Given the description of an element on the screen output the (x, y) to click on. 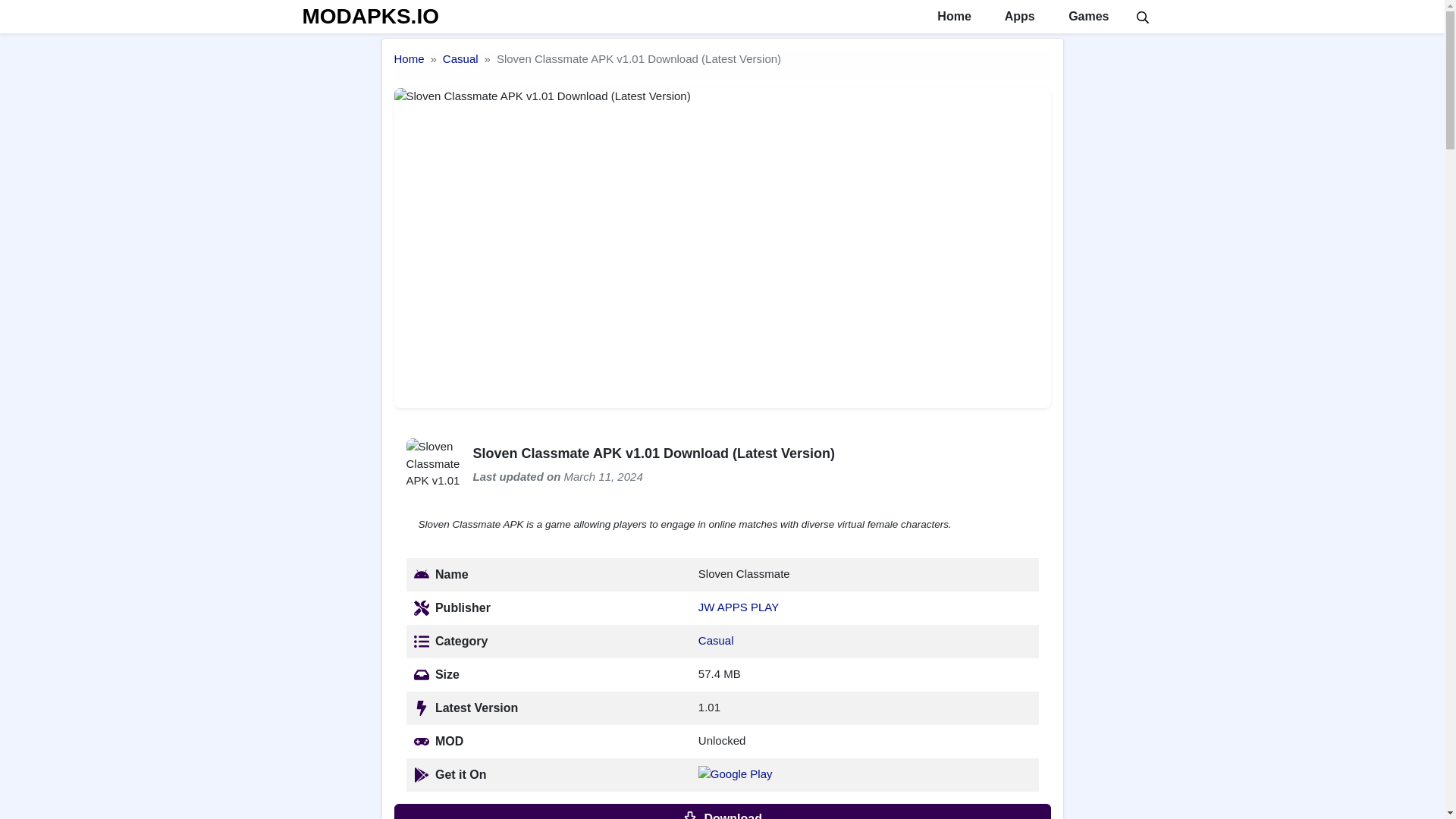
Download (722, 811)
JW APPS PLAY (738, 606)
 Home (952, 16)
Casual (715, 640)
Home (409, 58)
 Games (1086, 16)
Developer by JW APPS PLAY (738, 606)
Home (409, 58)
Casual (460, 58)
